Given the description of an element on the screen output the (x, y) to click on. 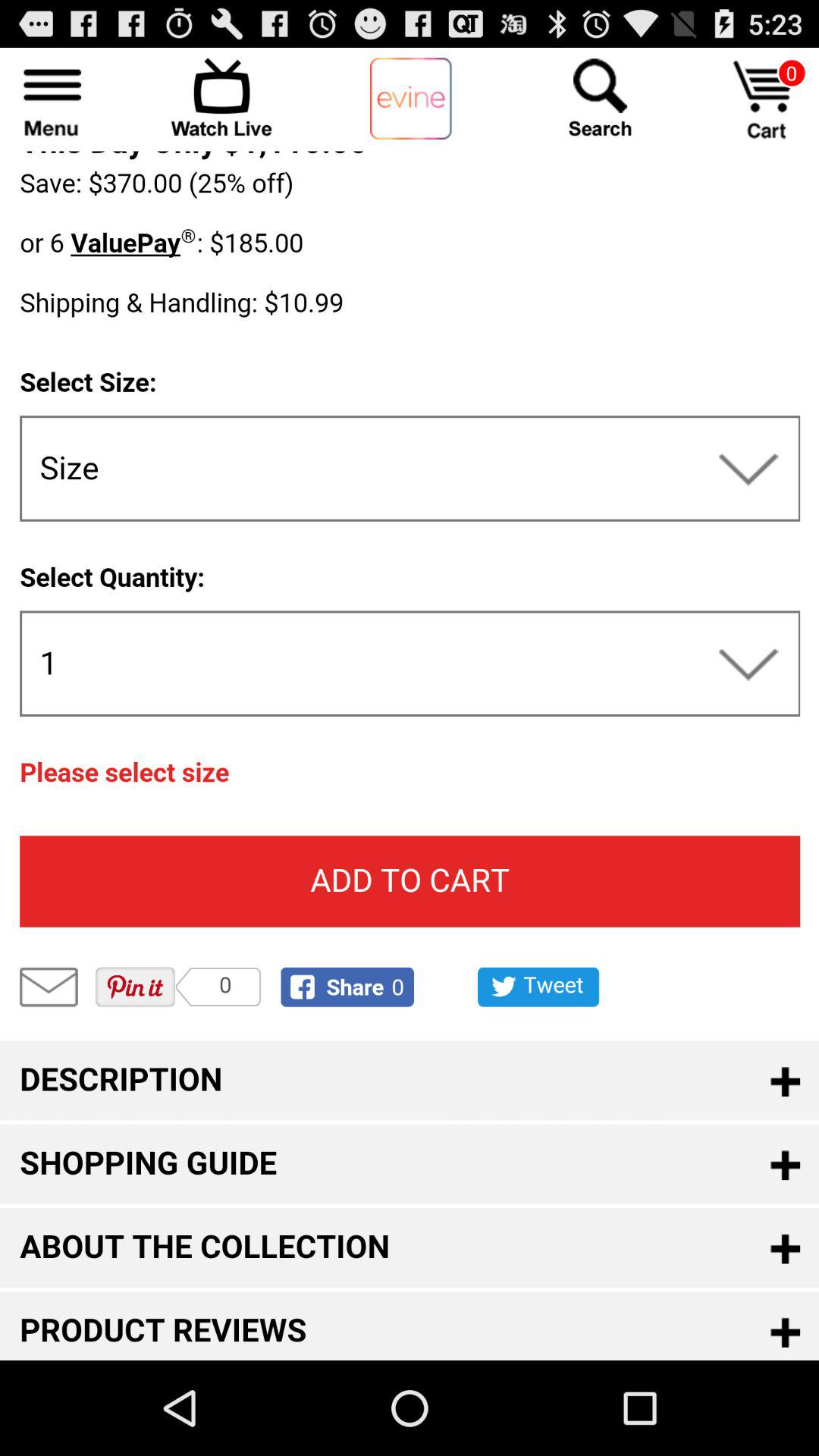
open streaming section (221, 97)
